Given the description of an element on the screen output the (x, y) to click on. 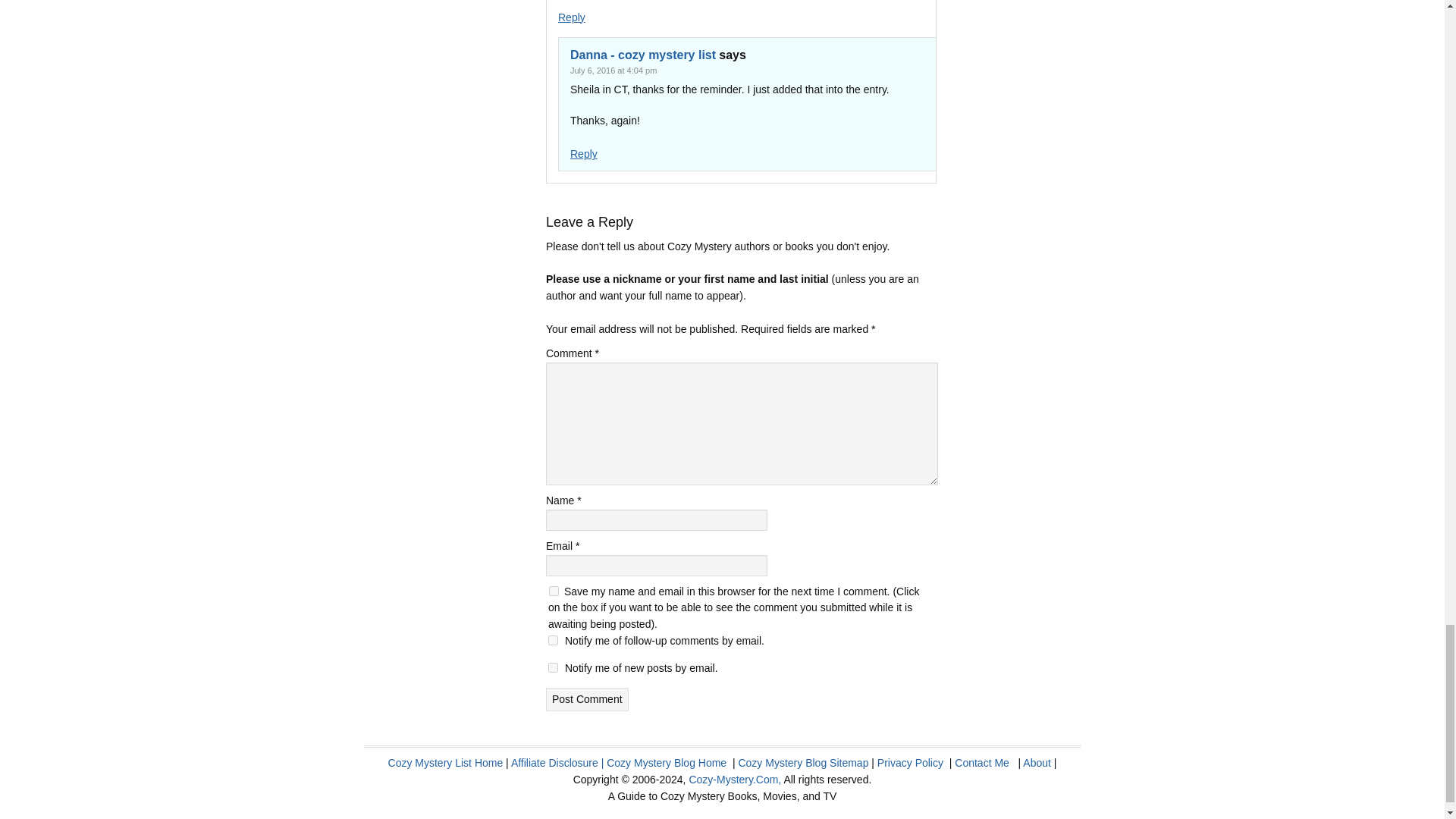
yes (553, 591)
subscribe (552, 667)
Post Comment (587, 699)
subscribe (552, 640)
